Given the description of an element on the screen output the (x, y) to click on. 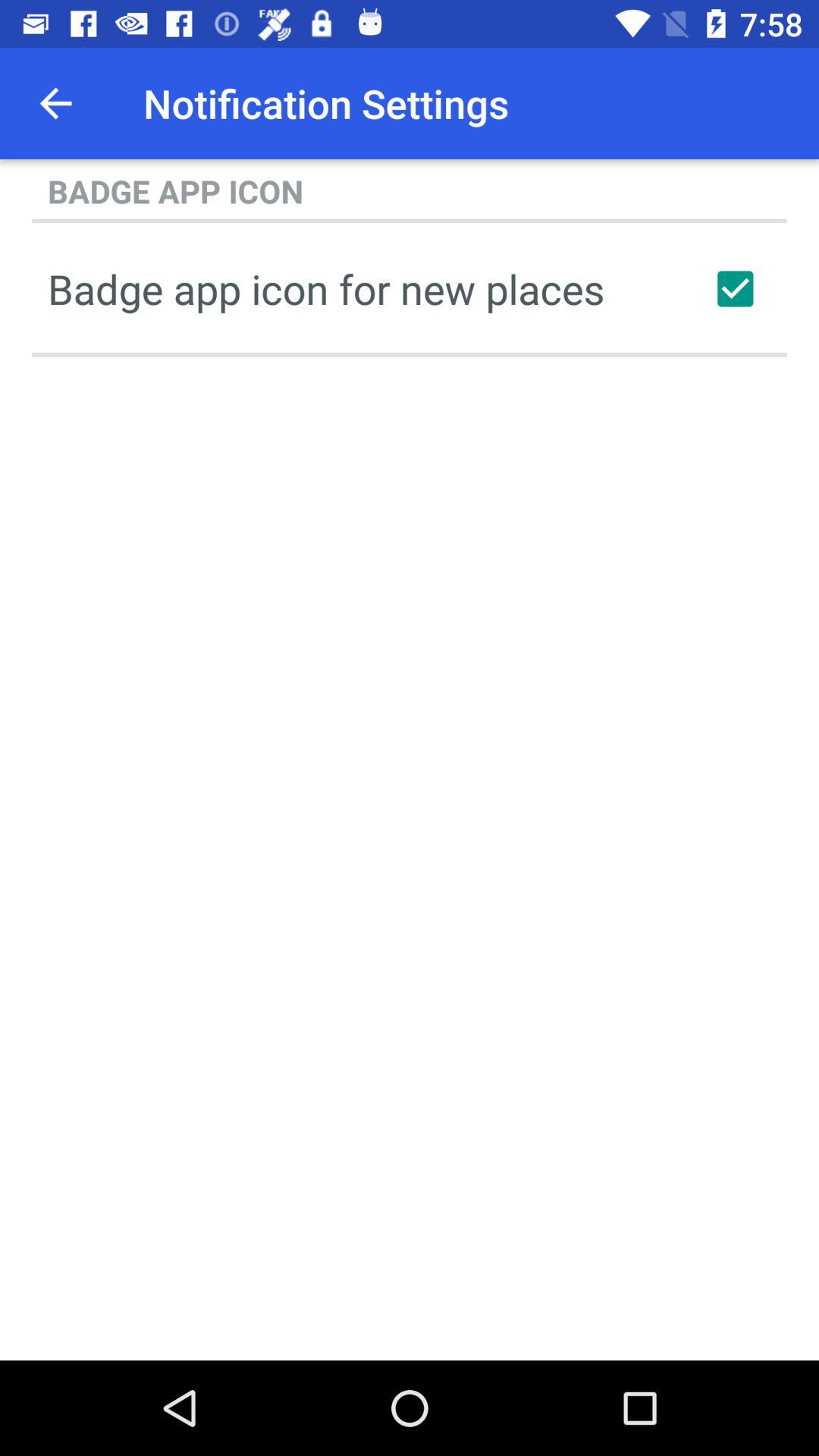
toggle new place badge icons (735, 288)
